Given the description of an element on the screen output the (x, y) to click on. 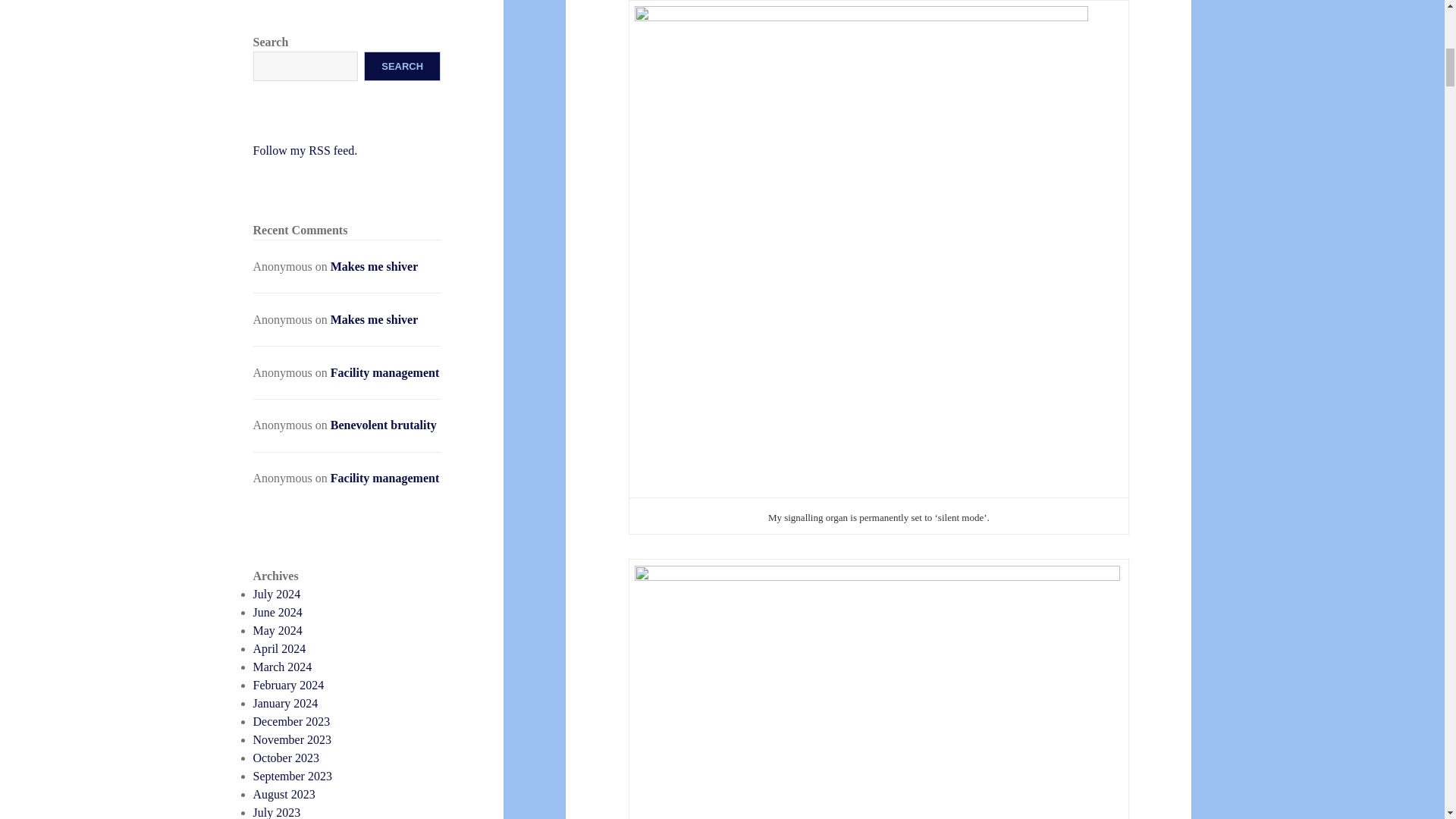
October 2023 (286, 757)
July 2024 (277, 594)
January 2024 (285, 703)
November 2023 (292, 739)
February 2024 (288, 684)
December 2023 (291, 721)
Benevolent brutality (383, 424)
June 2024 (277, 612)
March 2024 (283, 666)
SEARCH (402, 66)
Makes me shiver (374, 318)
July 2023 (277, 812)
Follow my RSS feed. (305, 150)
September 2023 (292, 775)
April 2024 (279, 648)
